Given the description of an element on the screen output the (x, y) to click on. 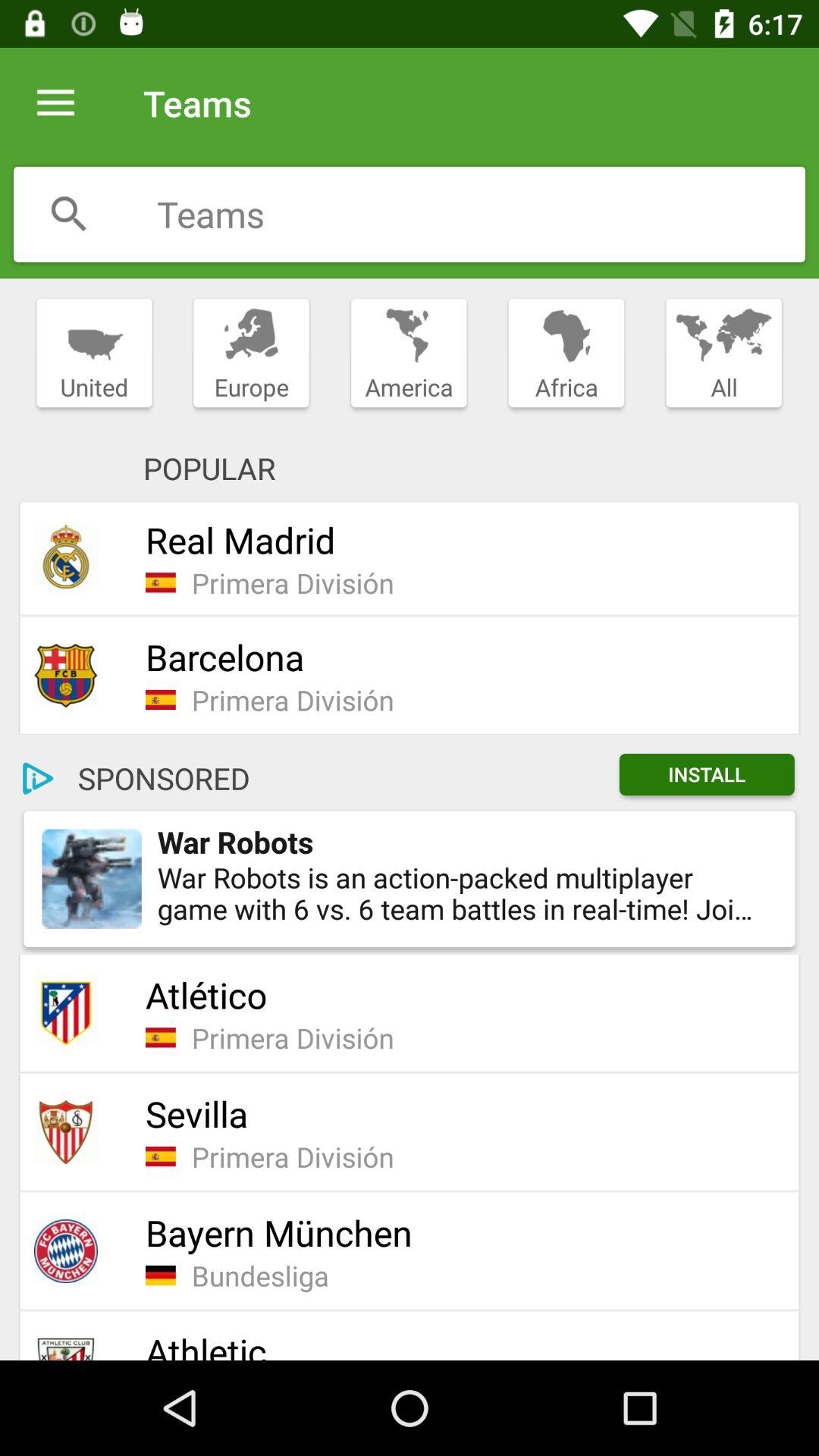
open the item next to the united states item (250, 353)
